Given the description of an element on the screen output the (x, y) to click on. 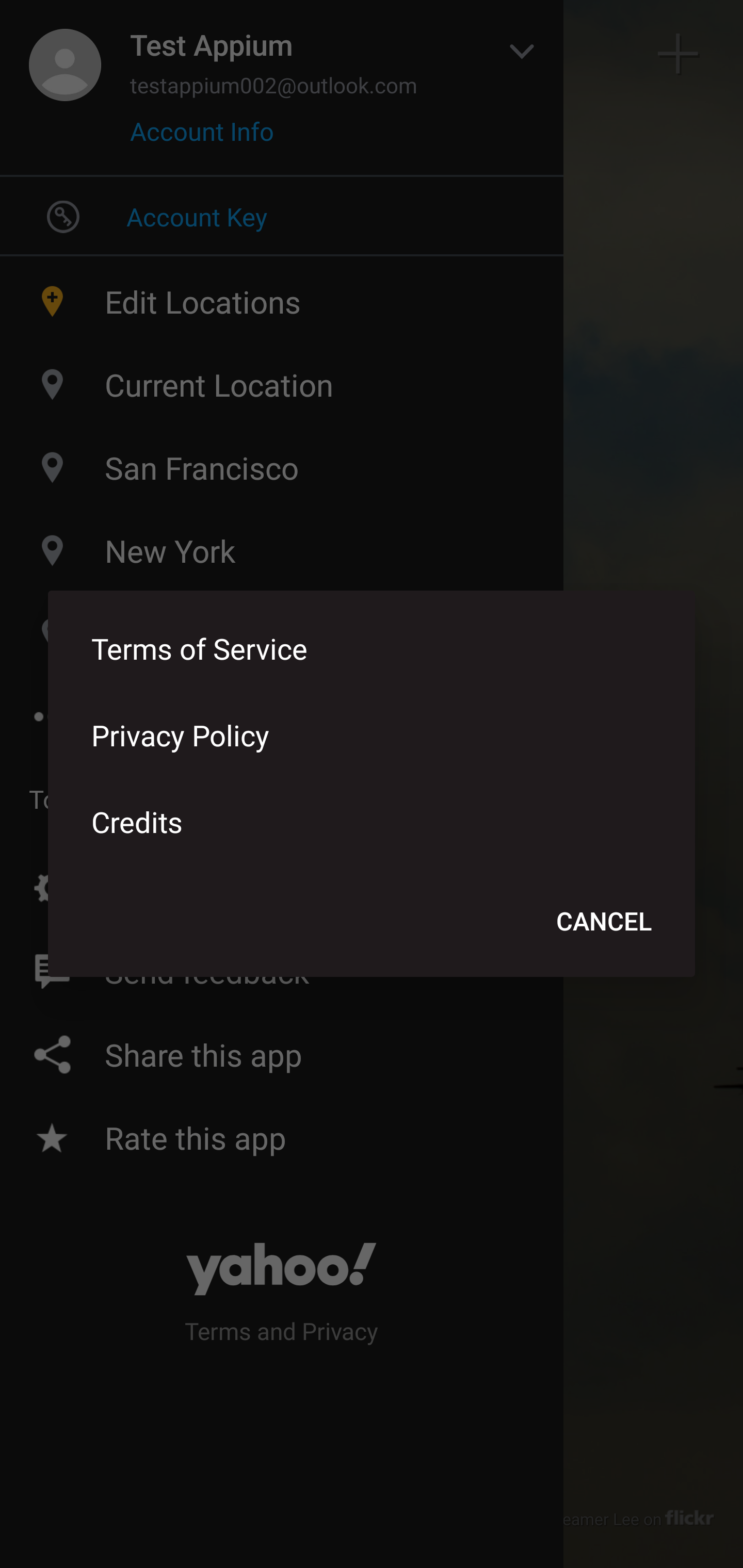
Terms of Service (371, 648)
Privacy Policy (371, 734)
Credits (371, 821)
CANCEL (603, 920)
